Given the description of an element on the screen output the (x, y) to click on. 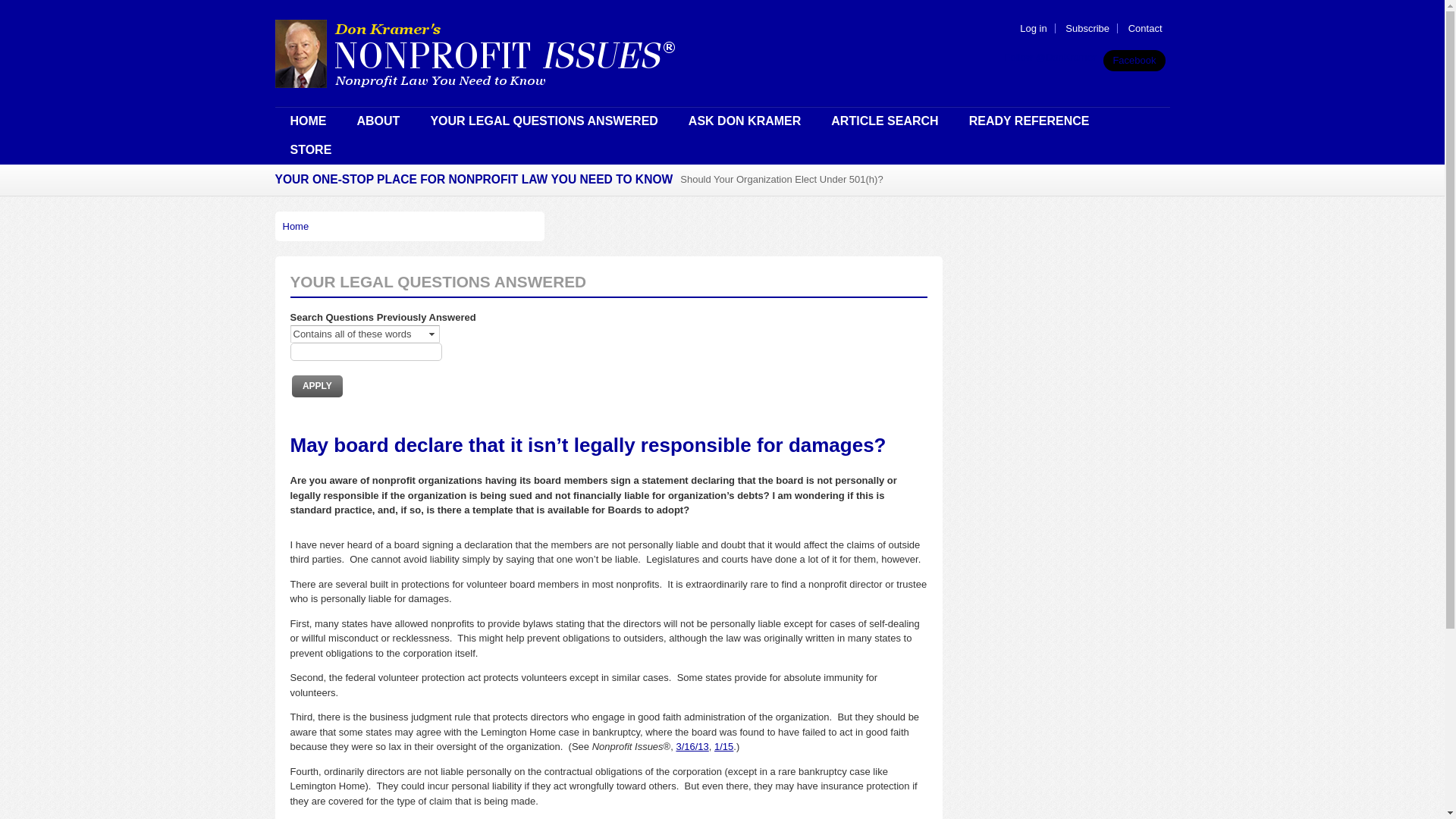
Skip to main content (677, 1)
HOME (307, 121)
Apply (316, 386)
Home (295, 225)
Facebook (1133, 60)
Apply (316, 386)
ASK DON KRAMER (743, 121)
Log in (1032, 28)
ABOUT (377, 121)
Contact (1145, 28)
